Given the description of an element on the screen output the (x, y) to click on. 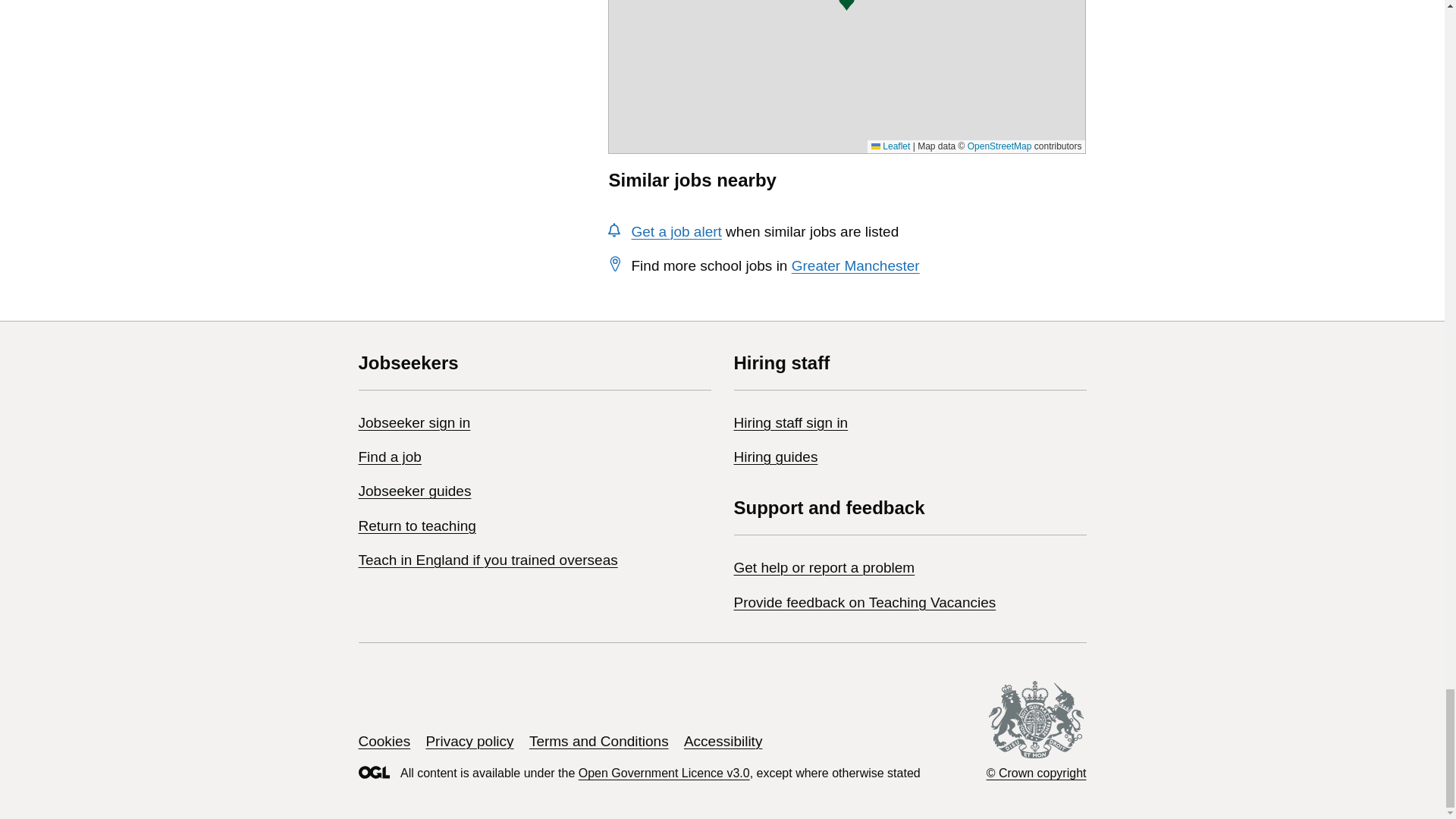
Vacancy location (847, 6)
Return to teaching (417, 525)
OpenStreetMap (1000, 145)
Jobseeker sign in (414, 422)
Jobseeker guides (414, 490)
A JavaScript library for interactive maps (890, 145)
Get help or report a problem (824, 567)
Leaflet (890, 145)
Hiring guides (775, 456)
Find a job (389, 456)
